Given the description of an element on the screen output the (x, y) to click on. 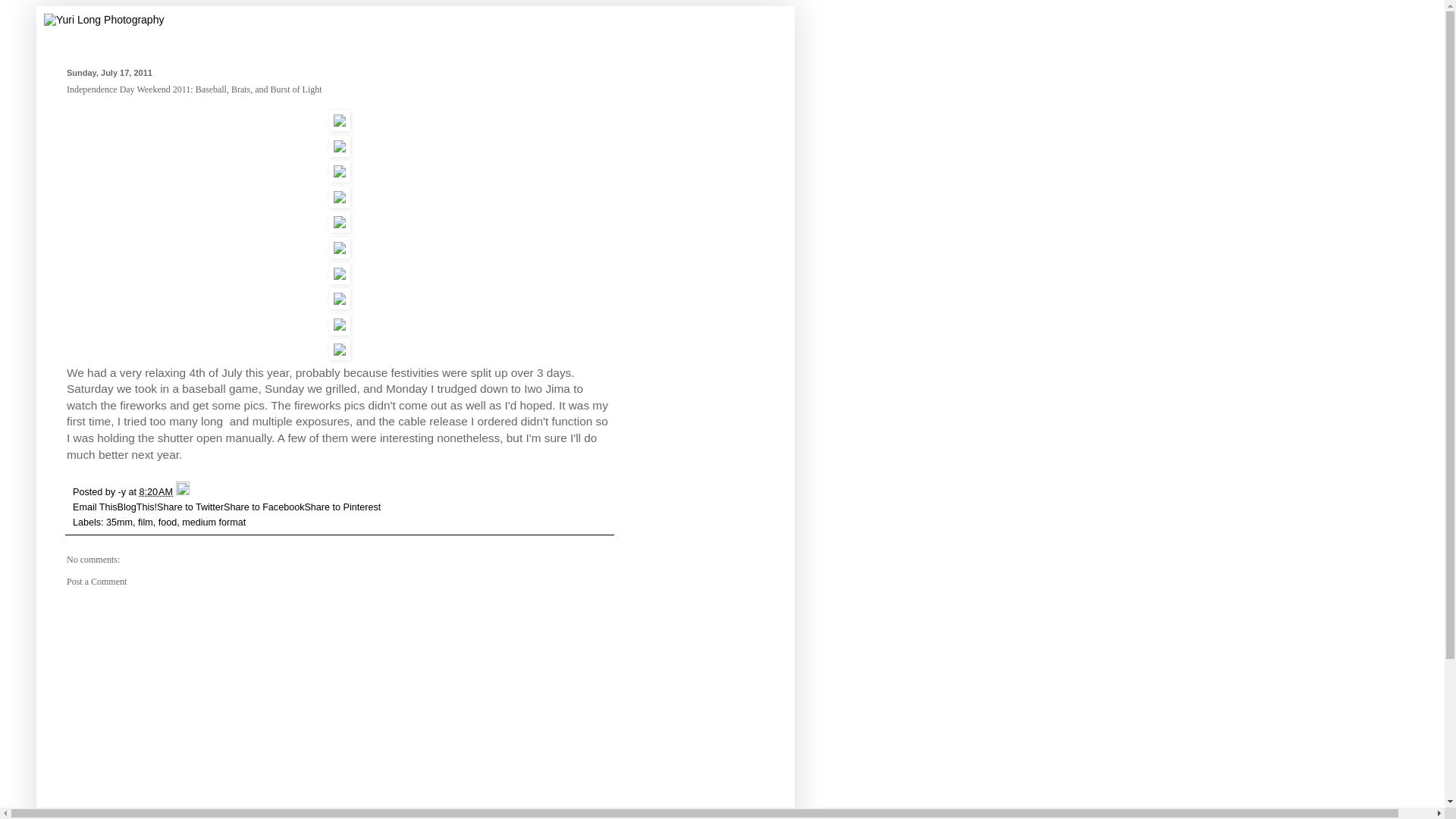
medium format (214, 521)
Share to Twitter (190, 507)
Edit Post (182, 491)
Share to Twitter (190, 507)
Email This (94, 507)
BlogThis! (137, 507)
35mm (119, 521)
Share to Facebook (264, 507)
BlogThis! (137, 507)
food (167, 521)
Share to Pinterest (342, 507)
Share to Pinterest (342, 507)
film (145, 521)
Email This (94, 507)
